Given the description of an element on the screen output the (x, y) to click on. 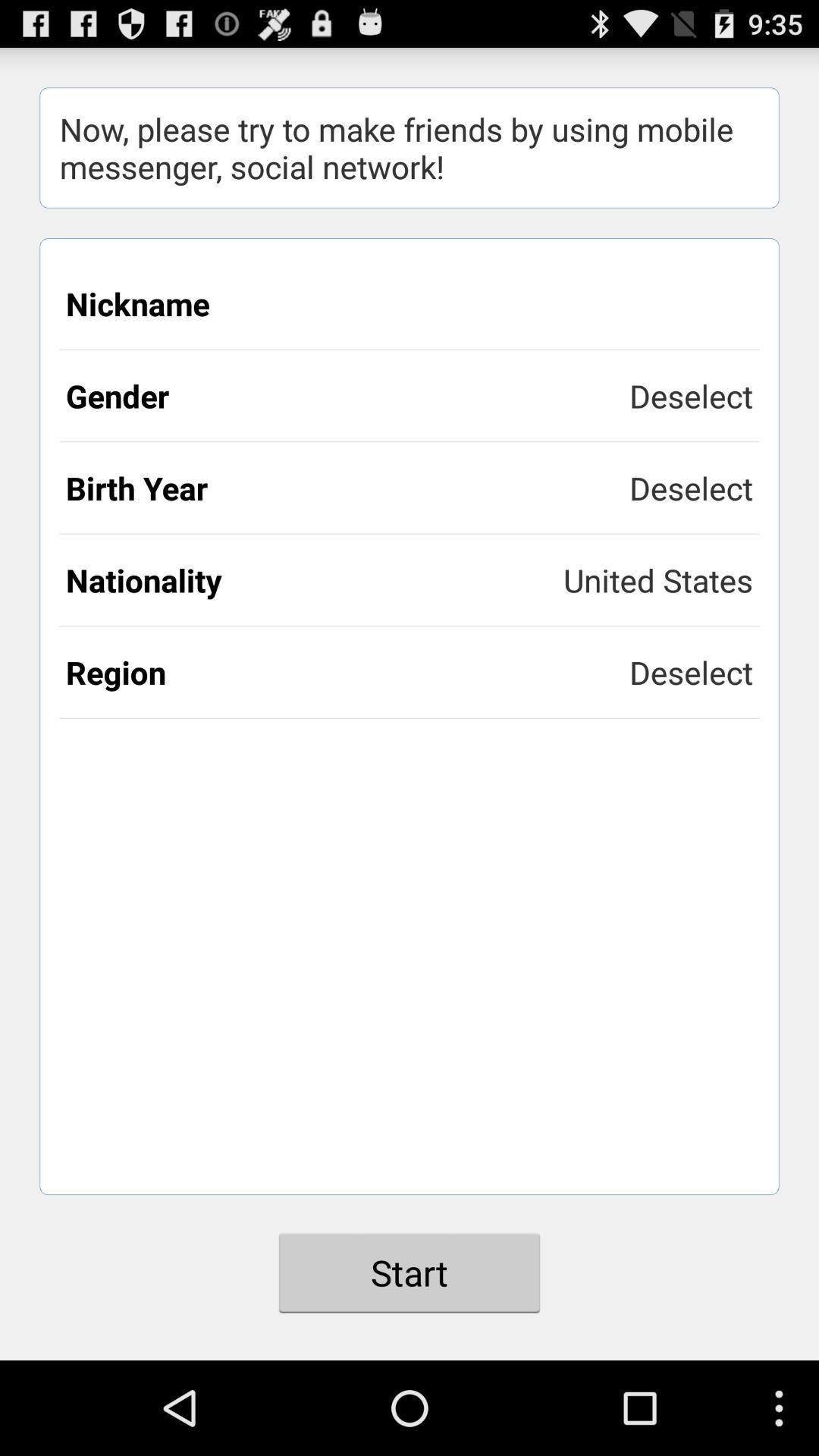
turn on the app to the left of deselect app (347, 671)
